Given the description of an element on the screen output the (x, y) to click on. 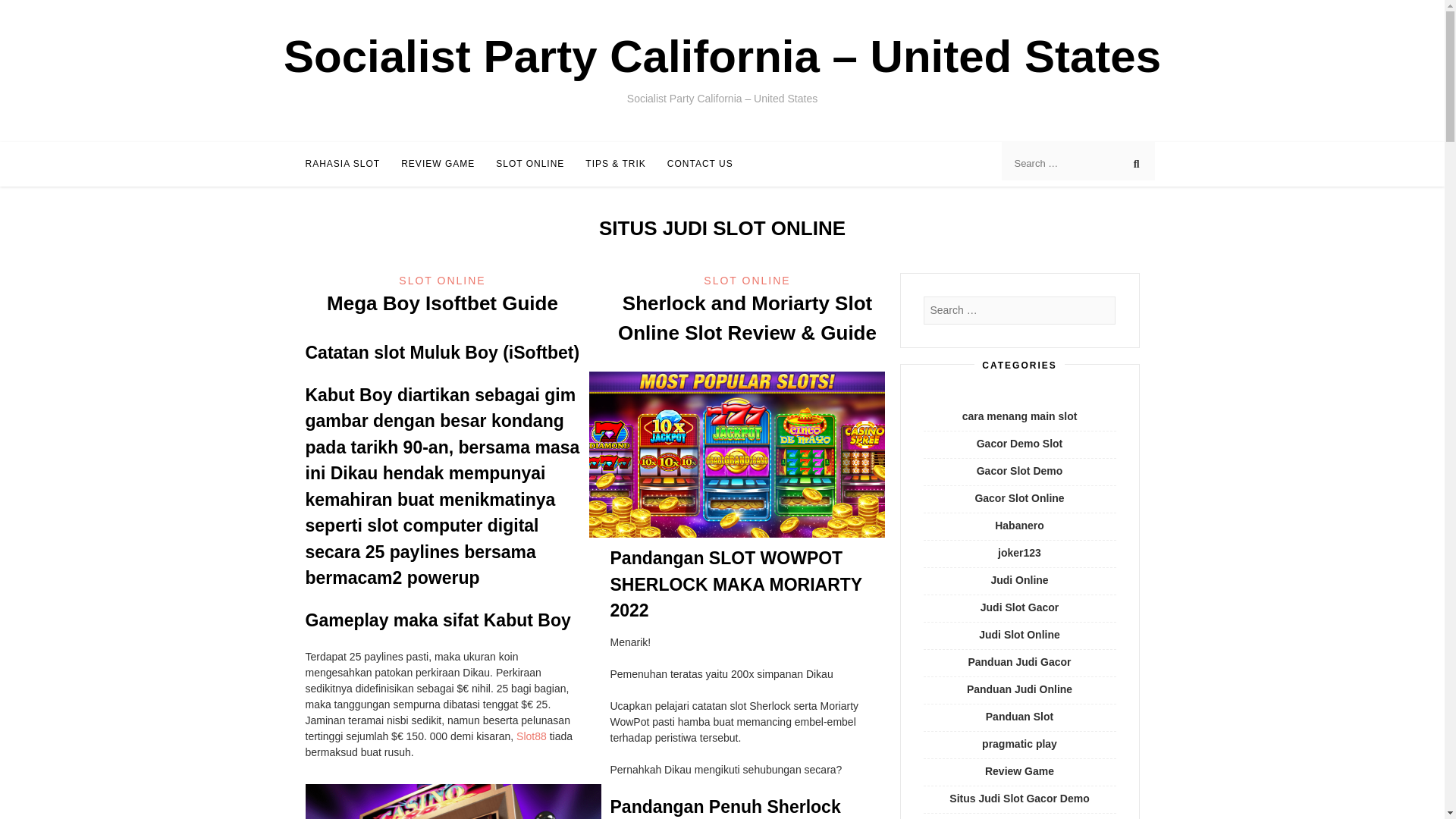
Mega Boy Isoftbet Guide (441, 302)
Gacor Slot Online (1019, 498)
REVIEW GAME (437, 163)
SLOT ONLINE (441, 280)
SLOT ONLINE (530, 163)
Gacor Demo Slot (1019, 443)
Search (26, 12)
Panduan Slot (1018, 716)
Gacor Slot Demo (1019, 470)
Judi Online (1019, 580)
